Given the description of an element on the screen output the (x, y) to click on. 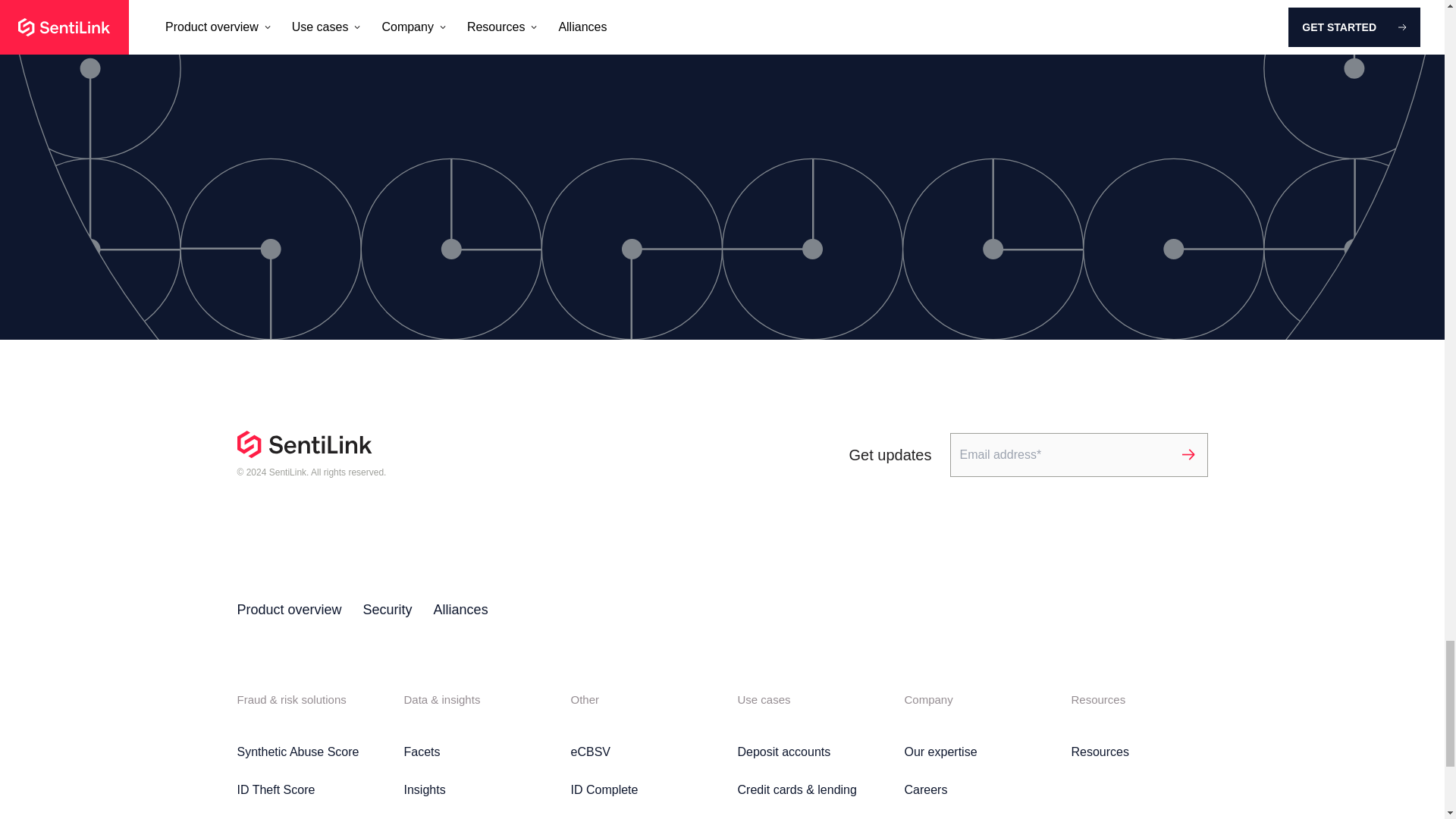
Submit (1187, 454)
